Given the description of an element on the screen output the (x, y) to click on. 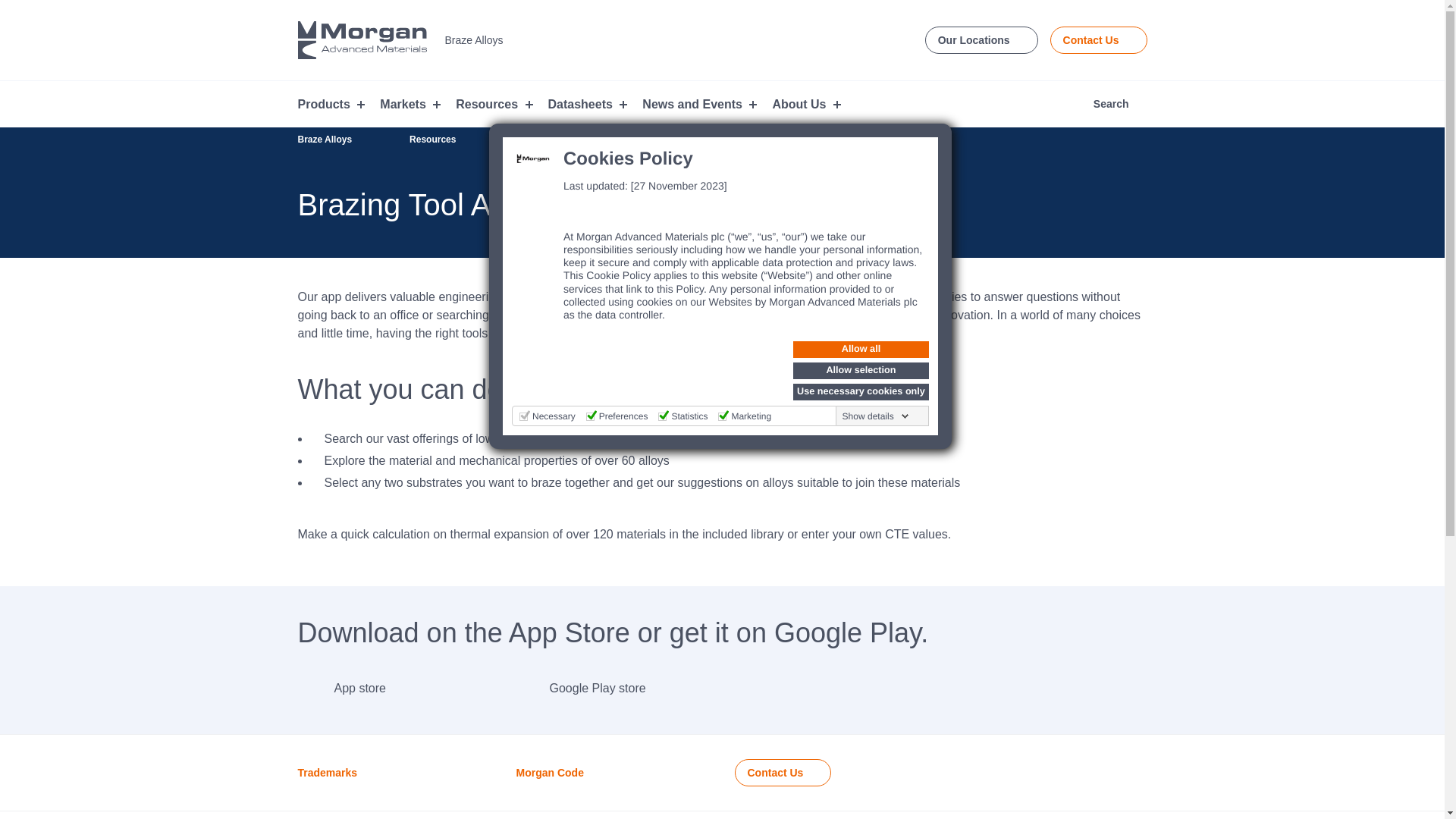
Allow selection (860, 370)
Use necessary cookies only (860, 392)
Allow all (860, 349)
Show details (876, 416)
